Given the description of an element on the screen output the (x, y) to click on. 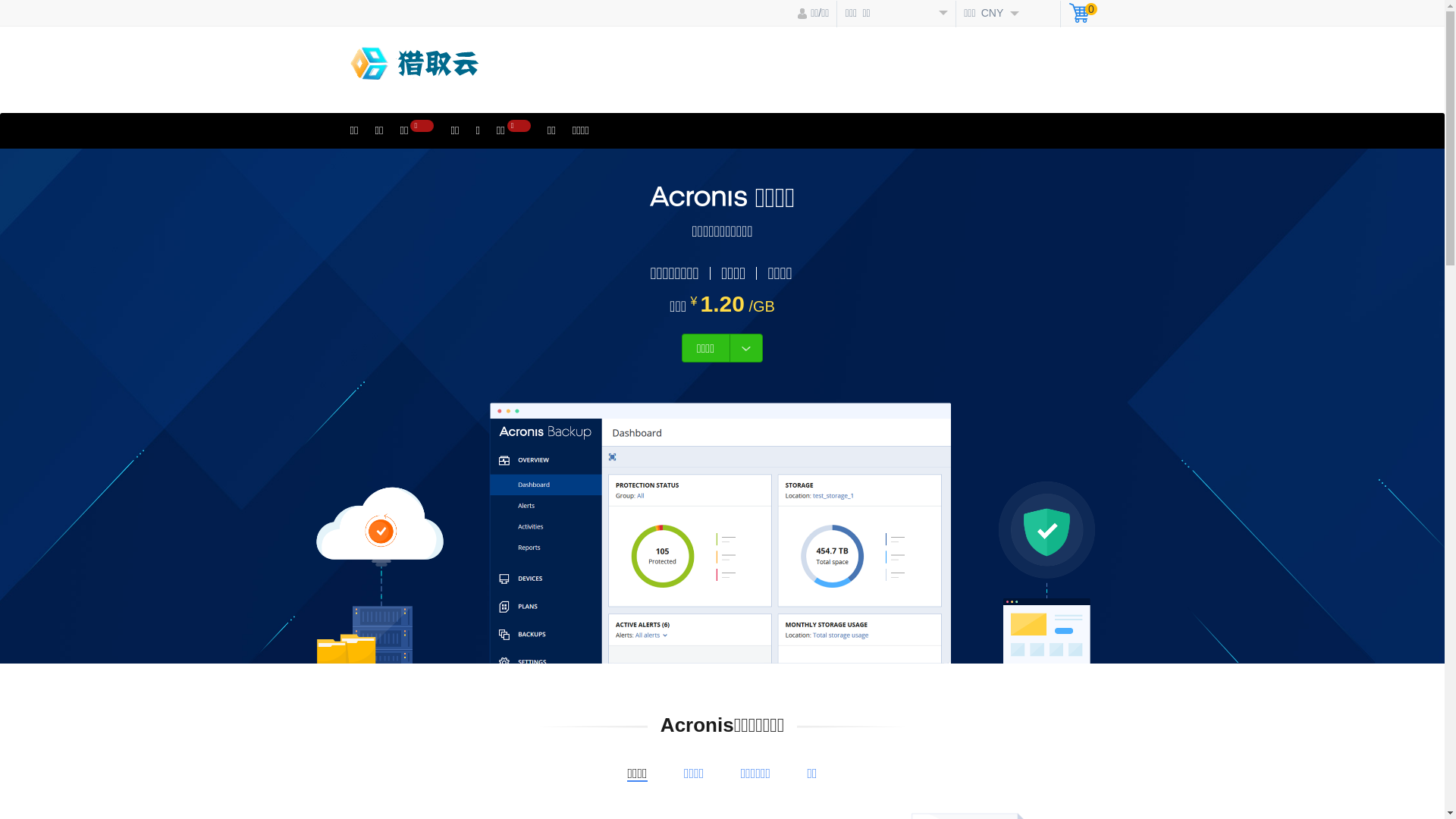
0 Element type: text (1082, 15)
